Given the description of an element on the screen output the (x, y) to click on. 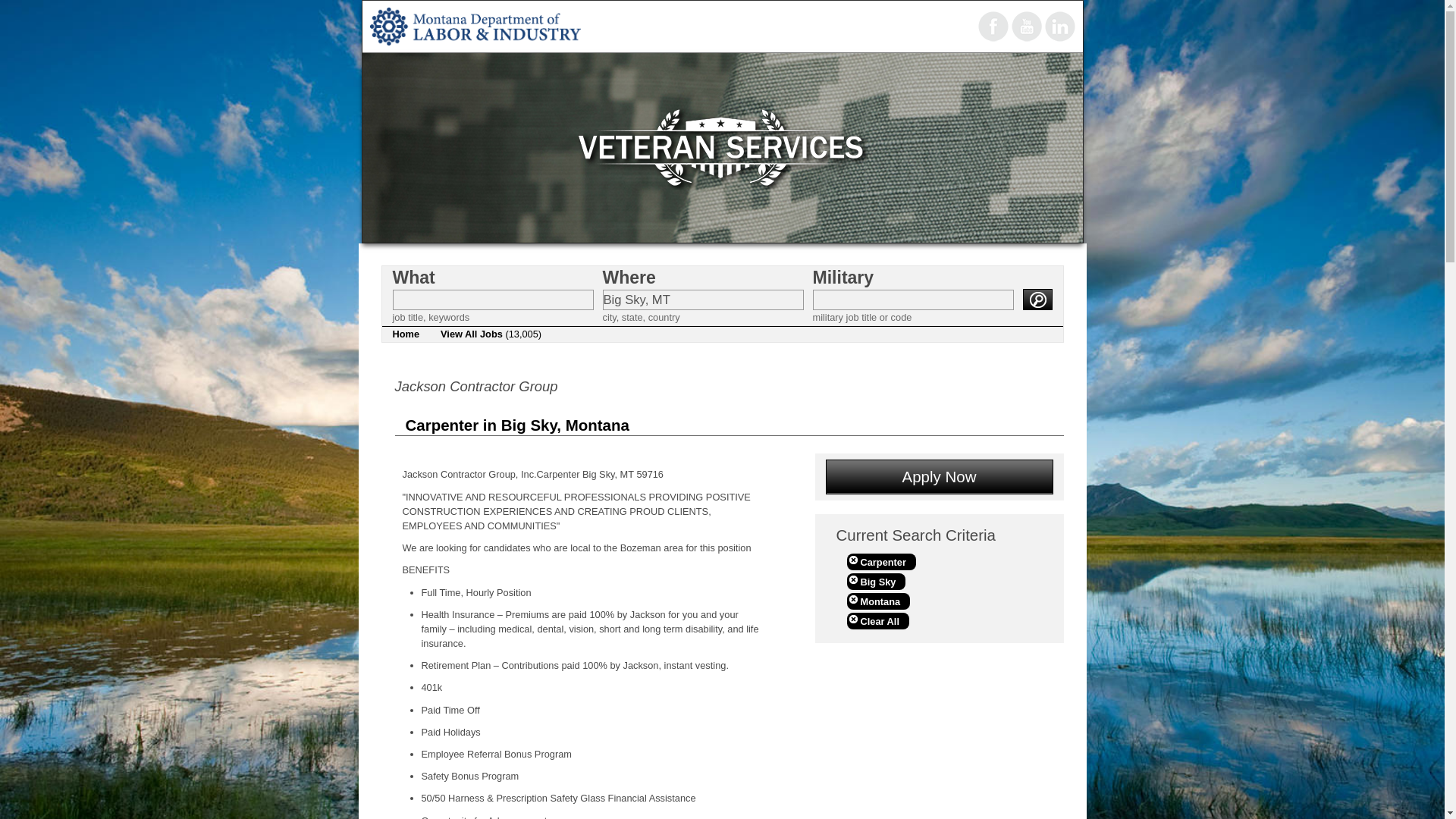
Search Phrase (493, 299)
search (1036, 299)
Big Sky (875, 581)
Clear All (876, 620)
Big Sky, MT (702, 299)
Remove Carpenter (880, 561)
Remove Montana (877, 600)
search (1036, 299)
Search MOC (912, 299)
Submit Search (1036, 299)
Apply Now (938, 476)
Montana (877, 600)
Search Location (702, 299)
Remove Big Sky (875, 581)
Carpenter (880, 561)
